Given the description of an element on the screen output the (x, y) to click on. 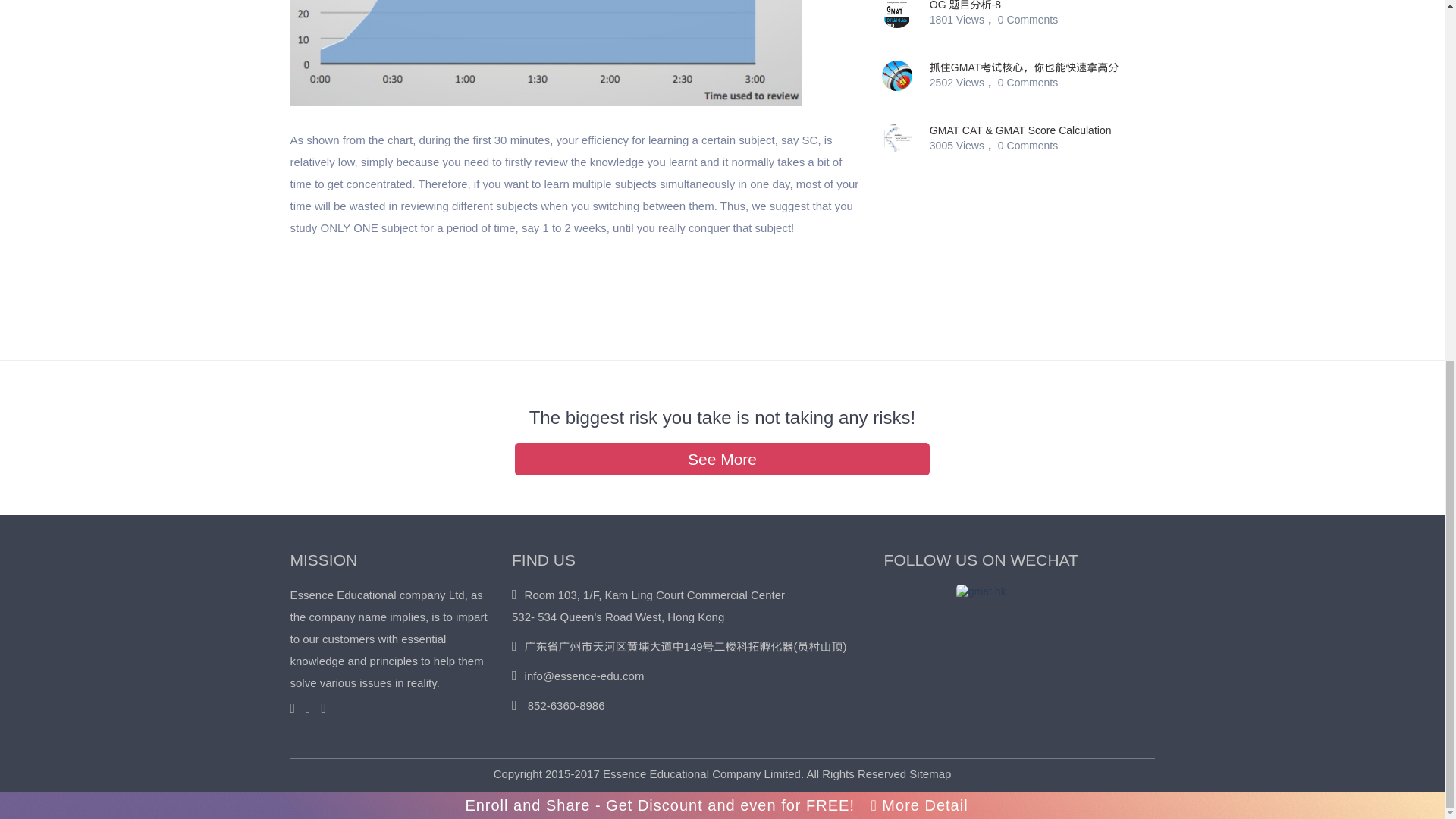
More Detail (919, 164)
Facebook (311, 708)
Linkedin (295, 708)
SinaWeiBo (326, 708)
See More (722, 458)
